Given the description of an element on the screen output the (x, y) to click on. 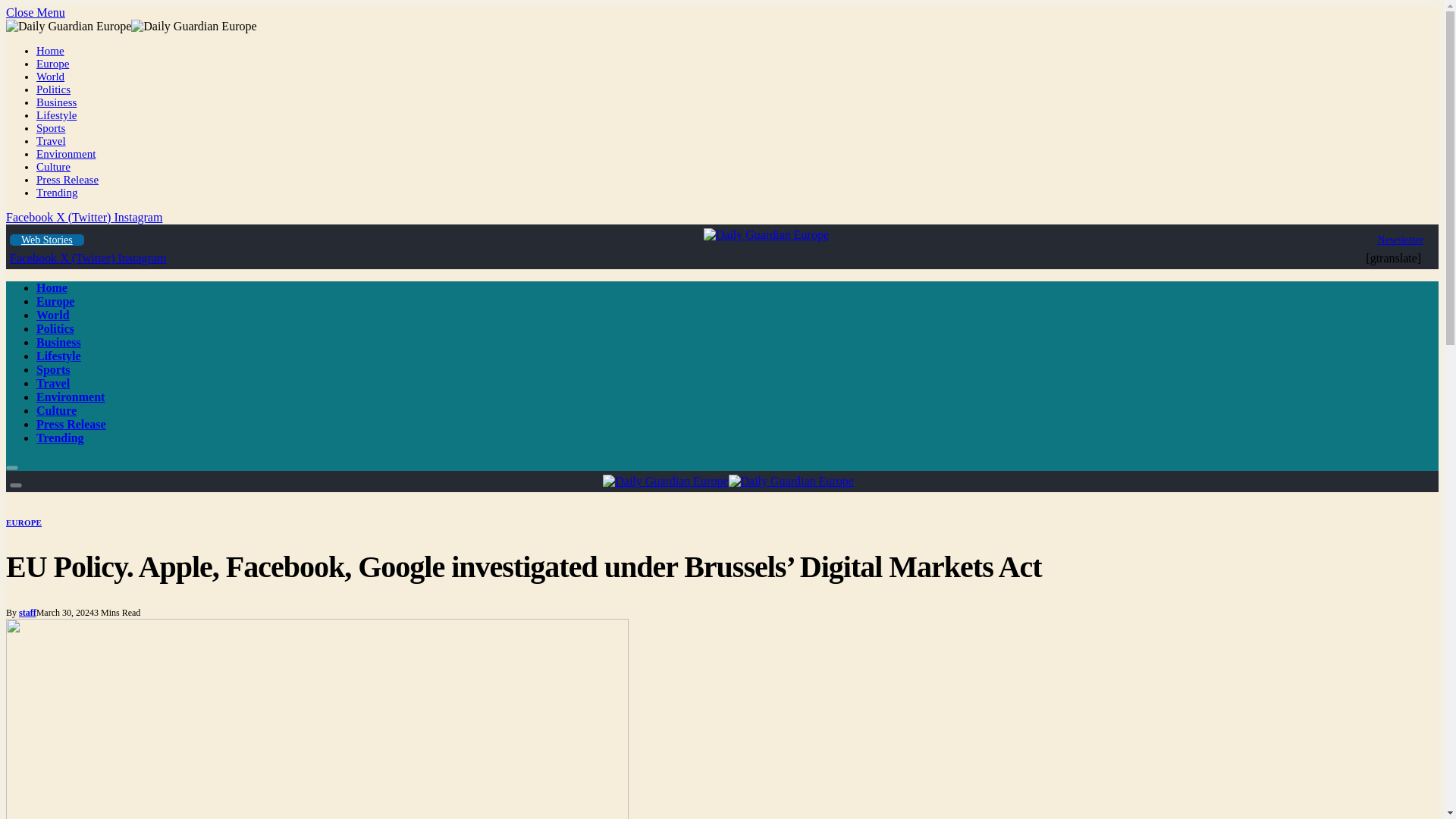
Lifestyle (56, 114)
World (50, 76)
Europe (55, 300)
Politics (55, 328)
Posts by staff (27, 612)
Environment (70, 396)
Home (50, 50)
Facebook (30, 216)
Environment (66, 153)
Instagram (137, 216)
World (52, 314)
Home (51, 287)
Travel (50, 141)
Europe (52, 63)
Travel (52, 382)
